Given the description of an element on the screen output the (x, y) to click on. 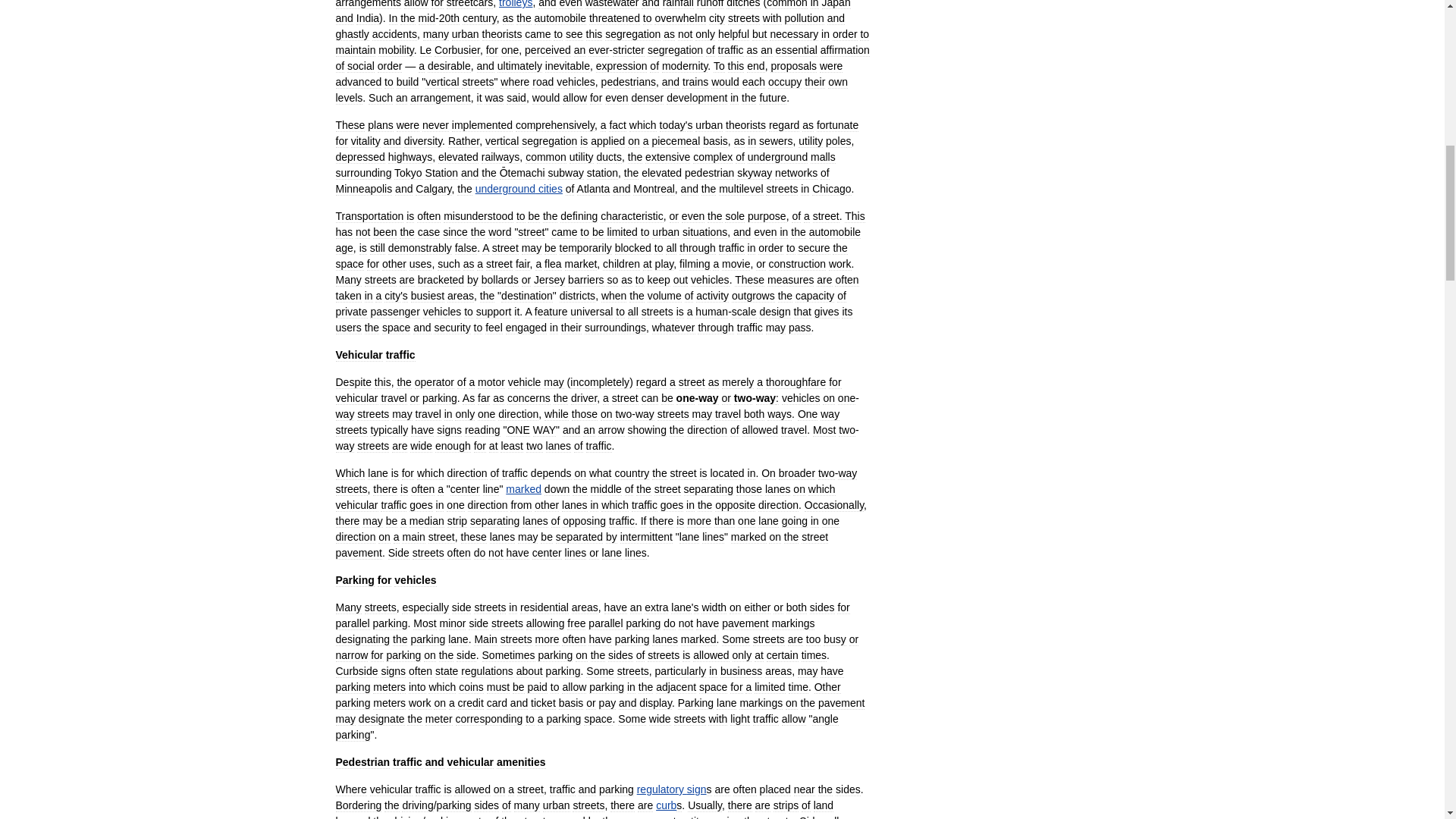
underground cities (519, 188)
trolleys (515, 4)
regulatory sign (671, 788)
marked (523, 489)
curb (666, 805)
